Given the description of an element on the screen output the (x, y) to click on. 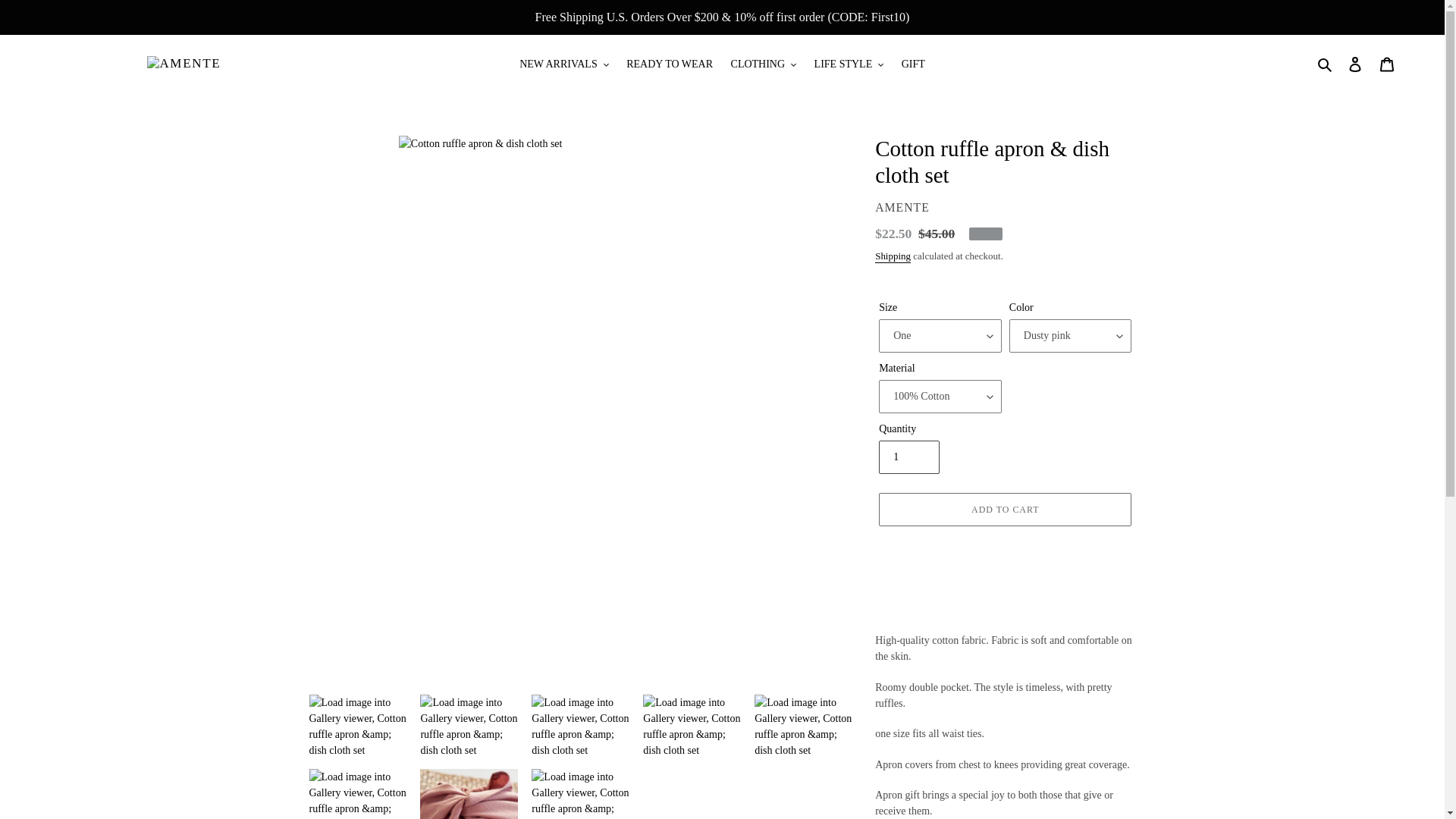
Cart (1387, 64)
NEW ARRIVALS (563, 64)
Search (1326, 64)
READY TO WEAR (669, 64)
GIFT (913, 64)
Log in (1355, 64)
CLOTHING (764, 64)
1 (909, 457)
LIFE STYLE (848, 64)
